Given the description of an element on the screen output the (x, y) to click on. 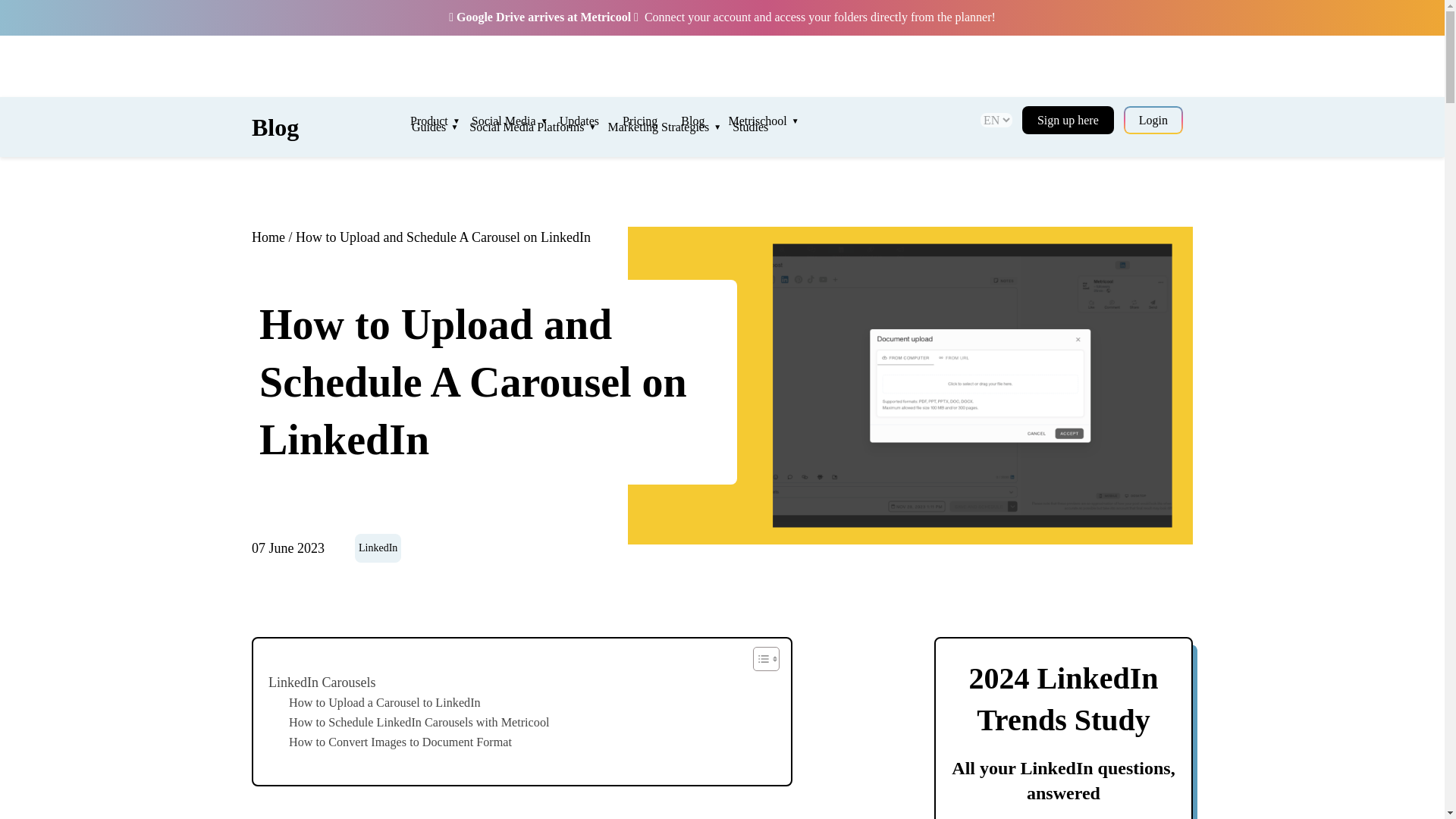
Login (1153, 120)
Social Media (515, 120)
Blog (704, 120)
Updates (591, 120)
Product (440, 120)
Blog (274, 126)
Pricing (652, 120)
Metrischool (768, 120)
Guides (440, 126)
Sign up here (1067, 120)
